Given the description of an element on the screen output the (x, y) to click on. 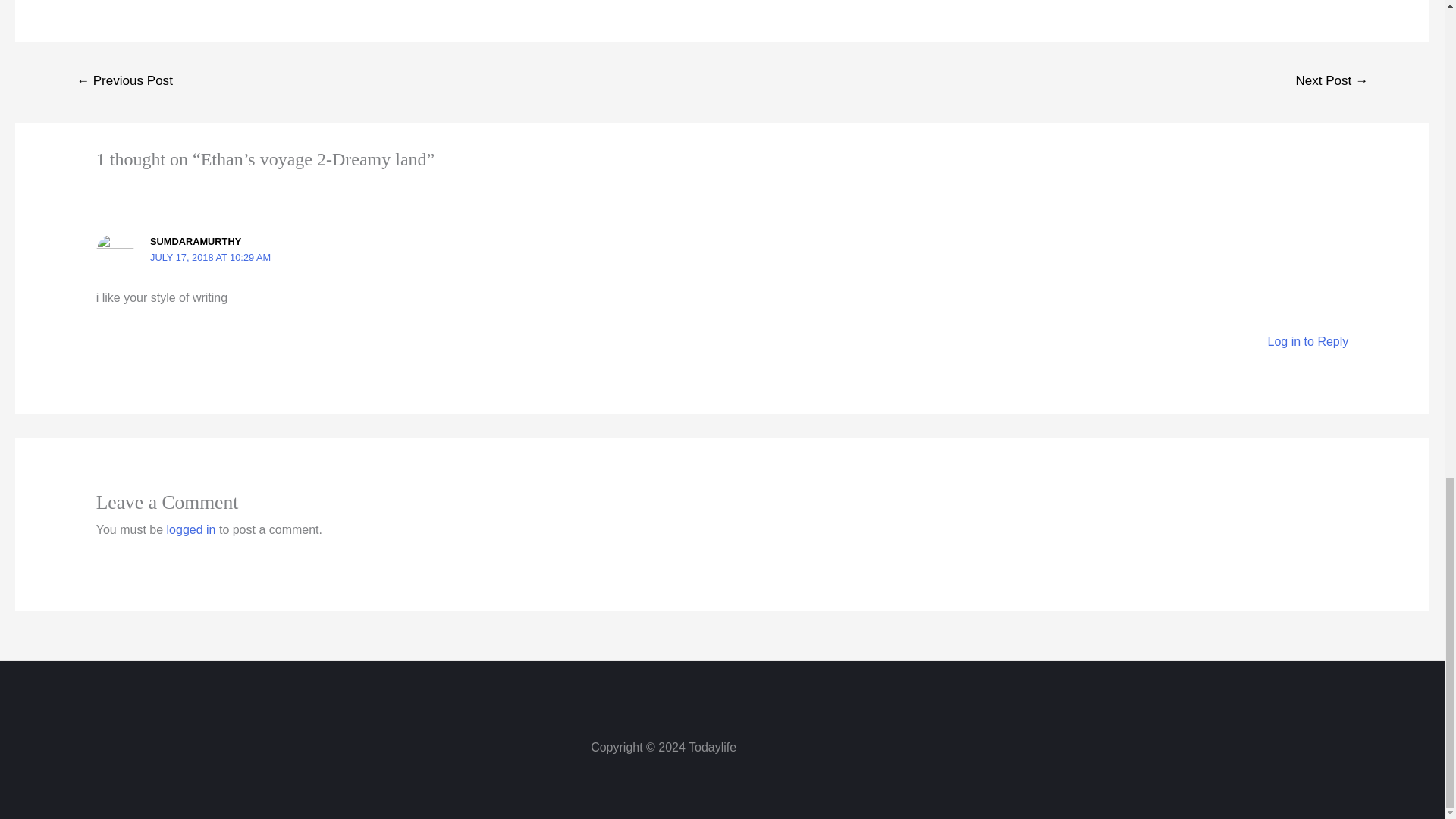
JULY 17, 2018 AT 10:29 AM (209, 256)
logged in (191, 529)
Log in to Reply (1308, 341)
